Given the description of an element on the screen output the (x, y) to click on. 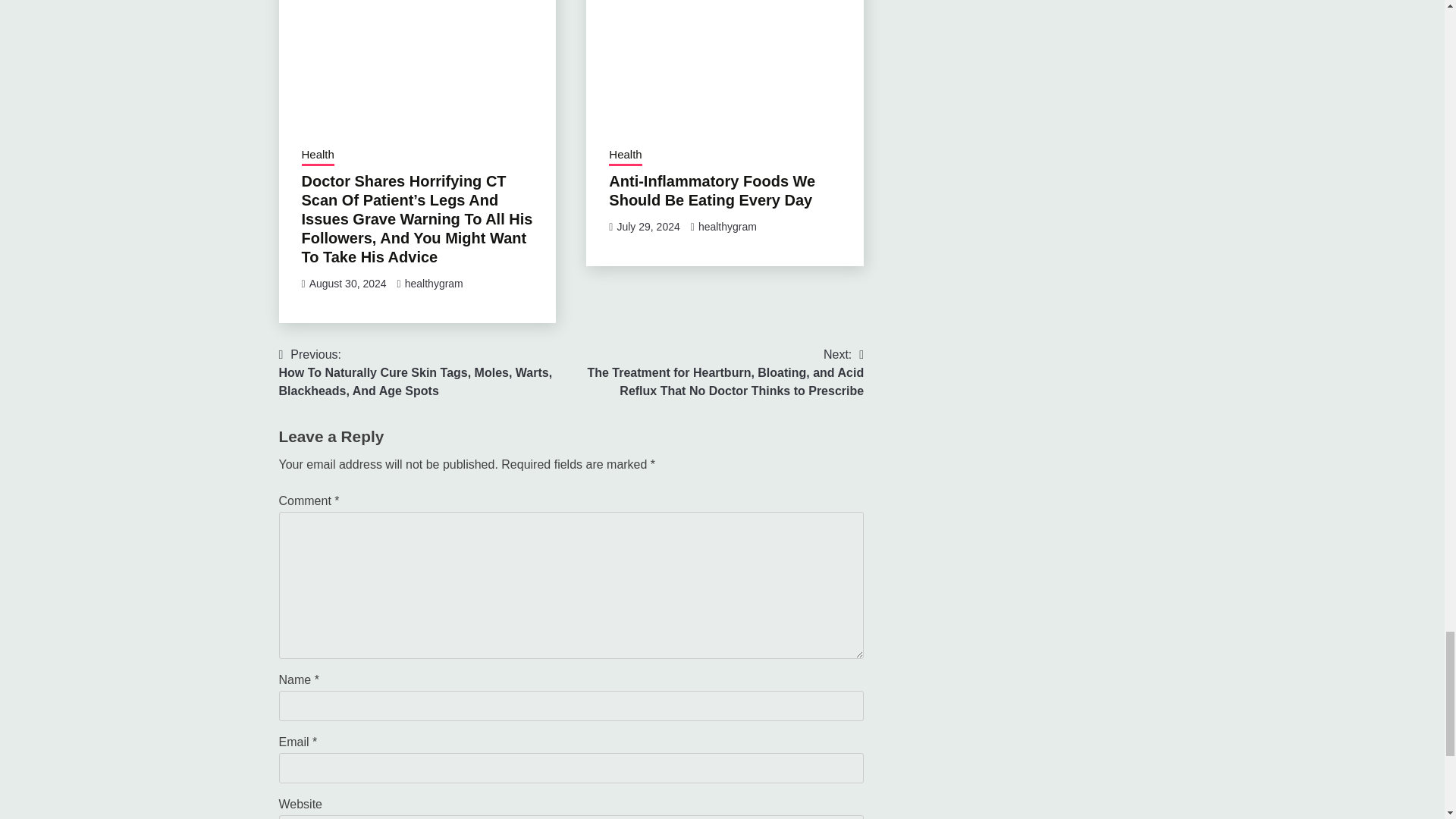
Health (317, 156)
healthygram (727, 226)
Health (625, 156)
Anti-Inflammatory Foods We Should Be Eating Every Day (711, 190)
August 30, 2024 (347, 283)
July 29, 2024 (647, 226)
healthygram (433, 283)
